Given the description of an element on the screen output the (x, y) to click on. 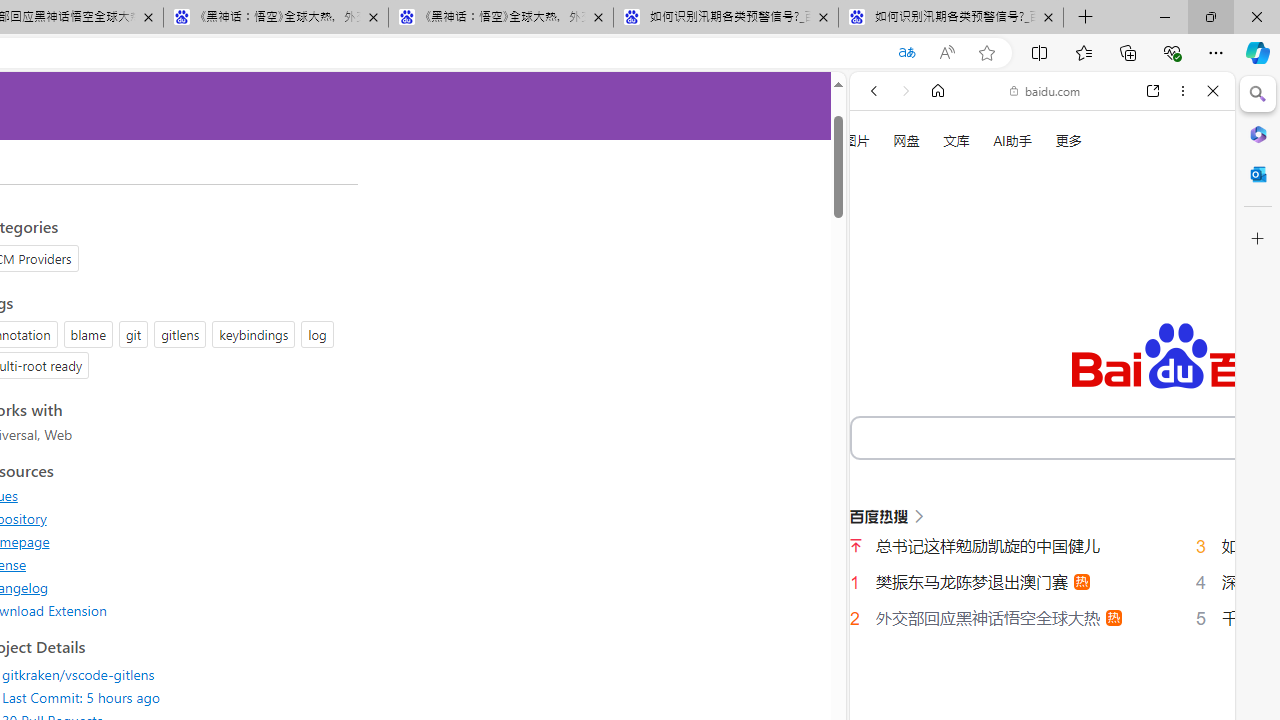
Translated (906, 53)
baidu.com (1045, 90)
English (Uk) (1042, 628)
OF | English meaning - Cambridge Dictionary (1034, 419)
